Given the description of an element on the screen output the (x, y) to click on. 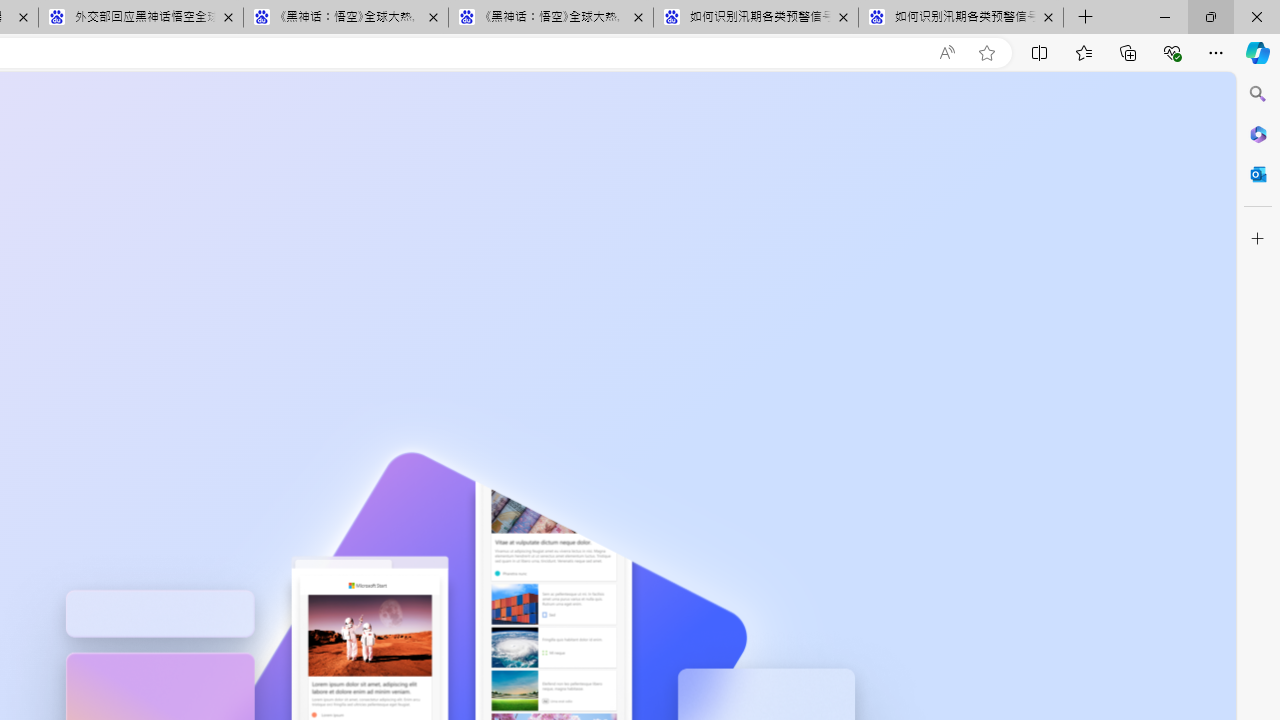
Customize (1258, 239)
Outlook (1258, 174)
Search (1258, 94)
Favorites (1083, 52)
